Given the description of an element on the screen output the (x, y) to click on. 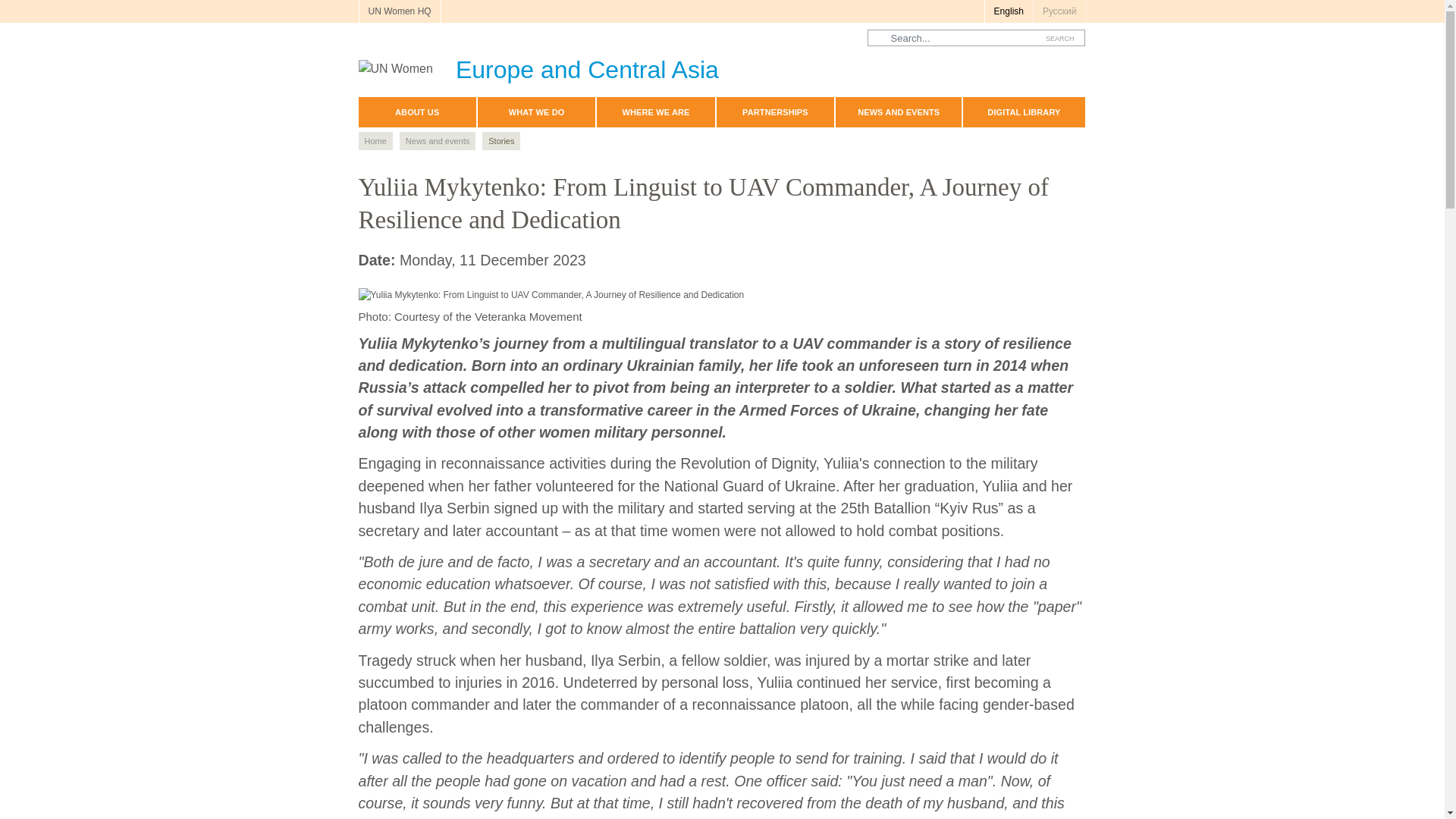
Europe and Central Asia (537, 65)
Search (1060, 38)
ABOUT US (417, 112)
WHERE WE ARE (655, 112)
Search (1060, 38)
UN Women HQ (399, 11)
UN Women (537, 65)
English (1008, 11)
WHAT WE DO (536, 112)
